Given the description of an element on the screen output the (x, y) to click on. 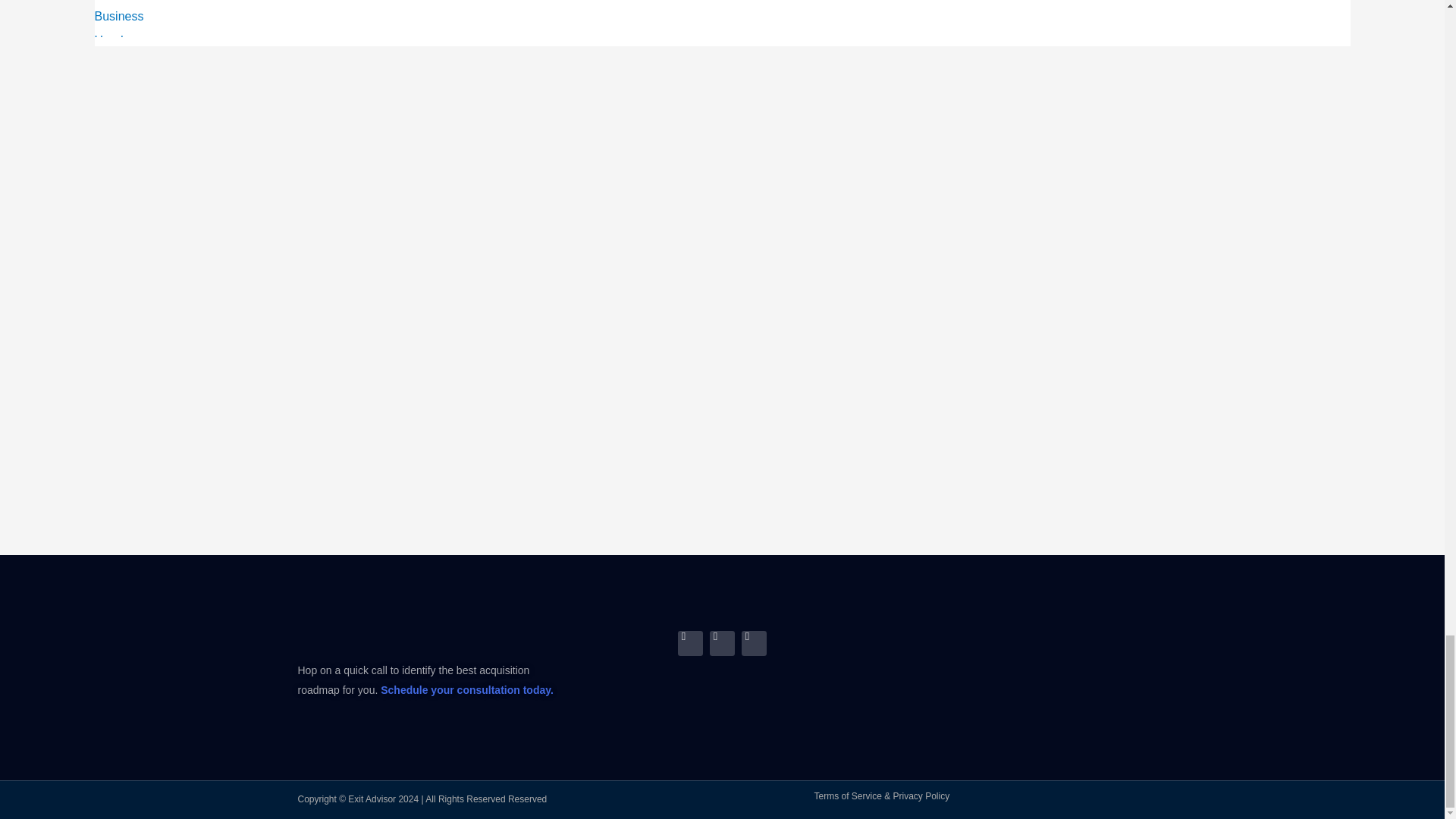
Spotify (722, 643)
Youtube (754, 643)
Linkedin (690, 643)
Schedule your consultation today. (466, 689)
